Given the description of an element on the screen output the (x, y) to click on. 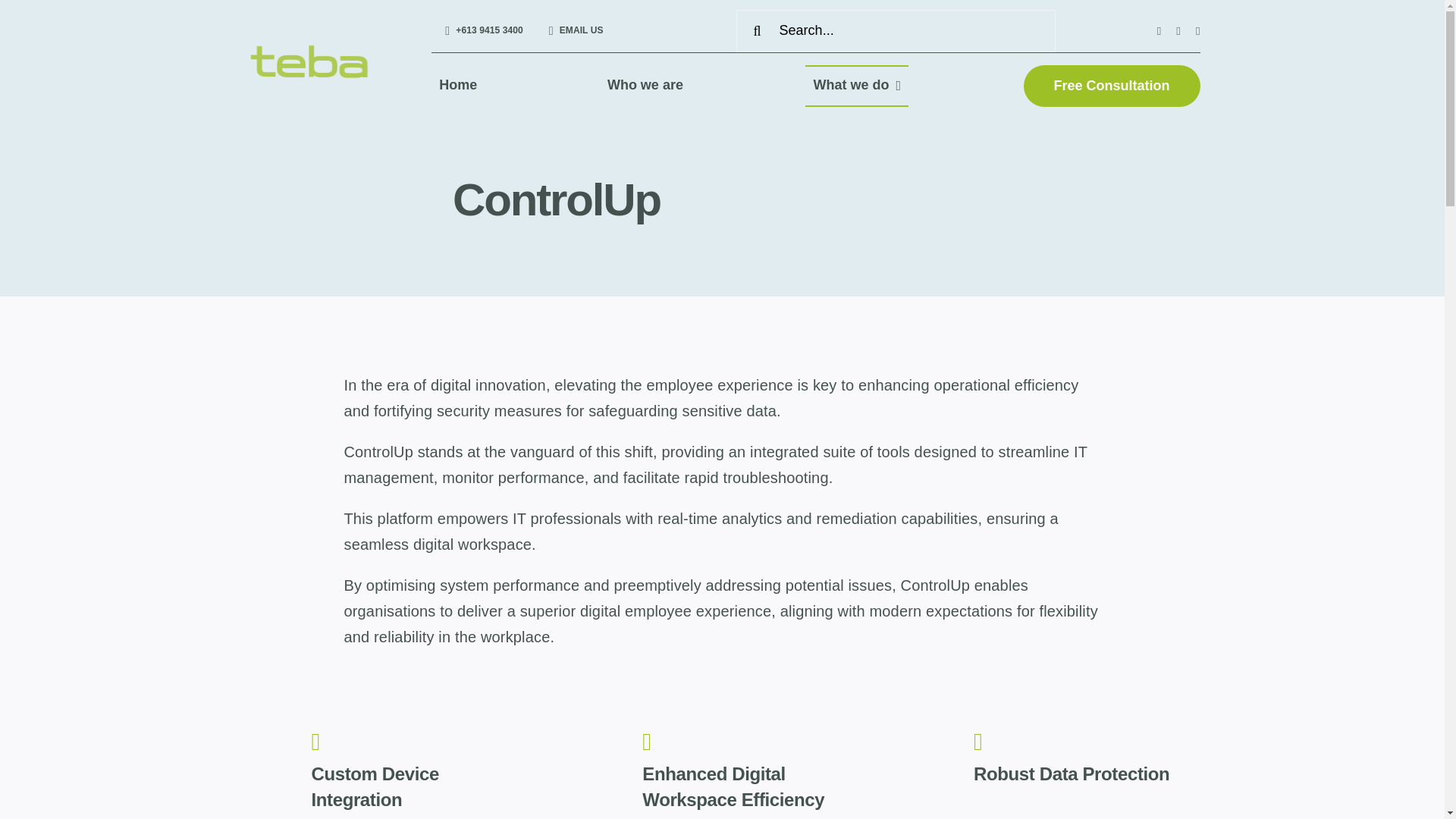
Home (457, 86)
Free Consultation (1111, 86)
Who we are (644, 86)
EMAIL US (573, 30)
What we do (856, 86)
